Given the description of an element on the screen output the (x, y) to click on. 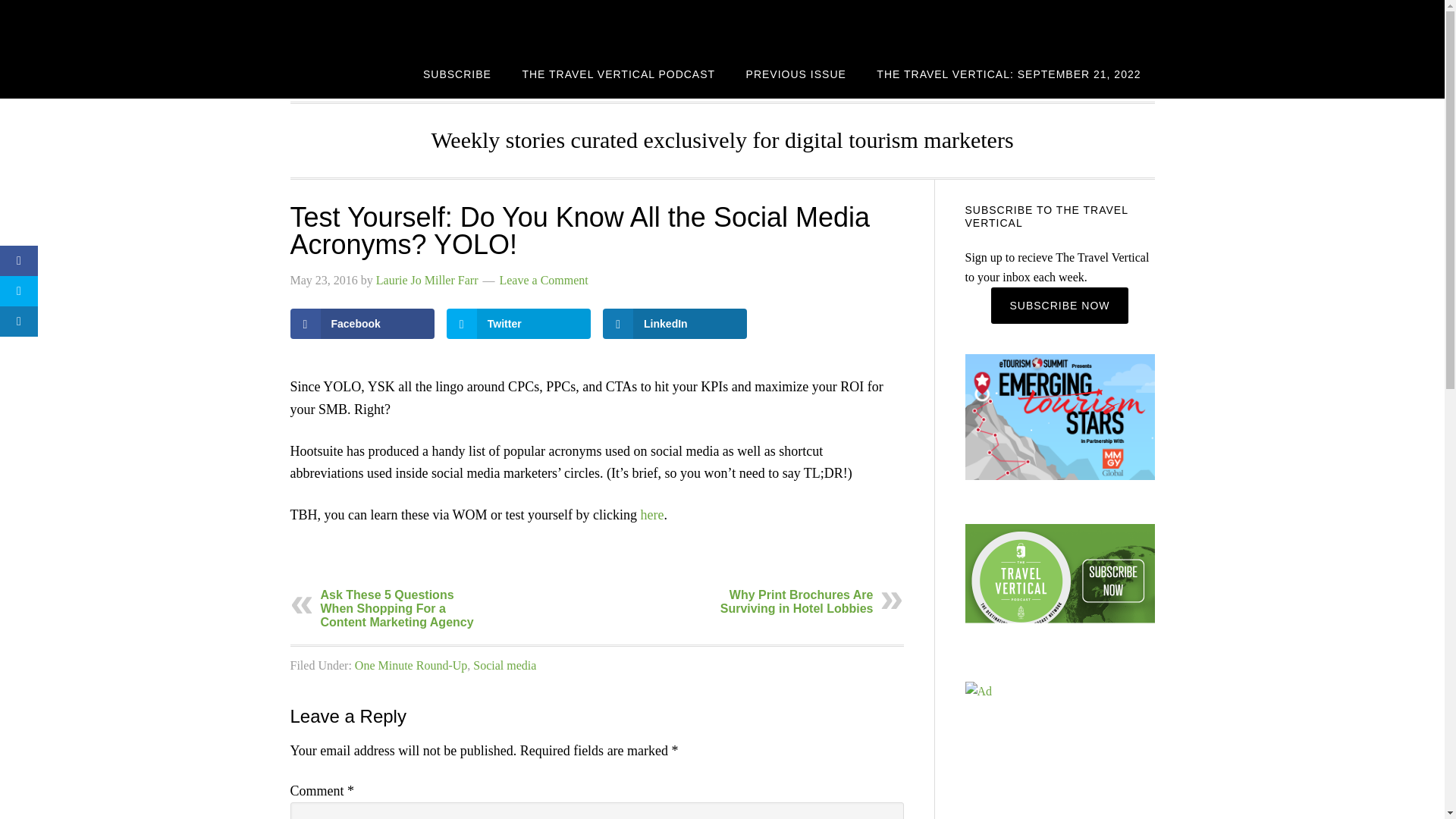
THE TRAVEL VERTICAL (410, 24)
Laurie Jo Miller Farr (427, 279)
PREVIOUS ISSUE (796, 73)
SUBSCRIBE (457, 73)
One Minute Round-Up (411, 665)
THE TRAVEL VERTICAL PODCAST (618, 73)
here (651, 514)
Subscribe Now (1058, 305)
LinkedIn (674, 323)
Facebook (361, 323)
Leave a Comment (543, 279)
Social media (504, 665)
Twitter (518, 323)
THE TRAVEL VERTICAL: SEPTEMBER 21, 2022 (1008, 73)
